Given the description of an element on the screen output the (x, y) to click on. 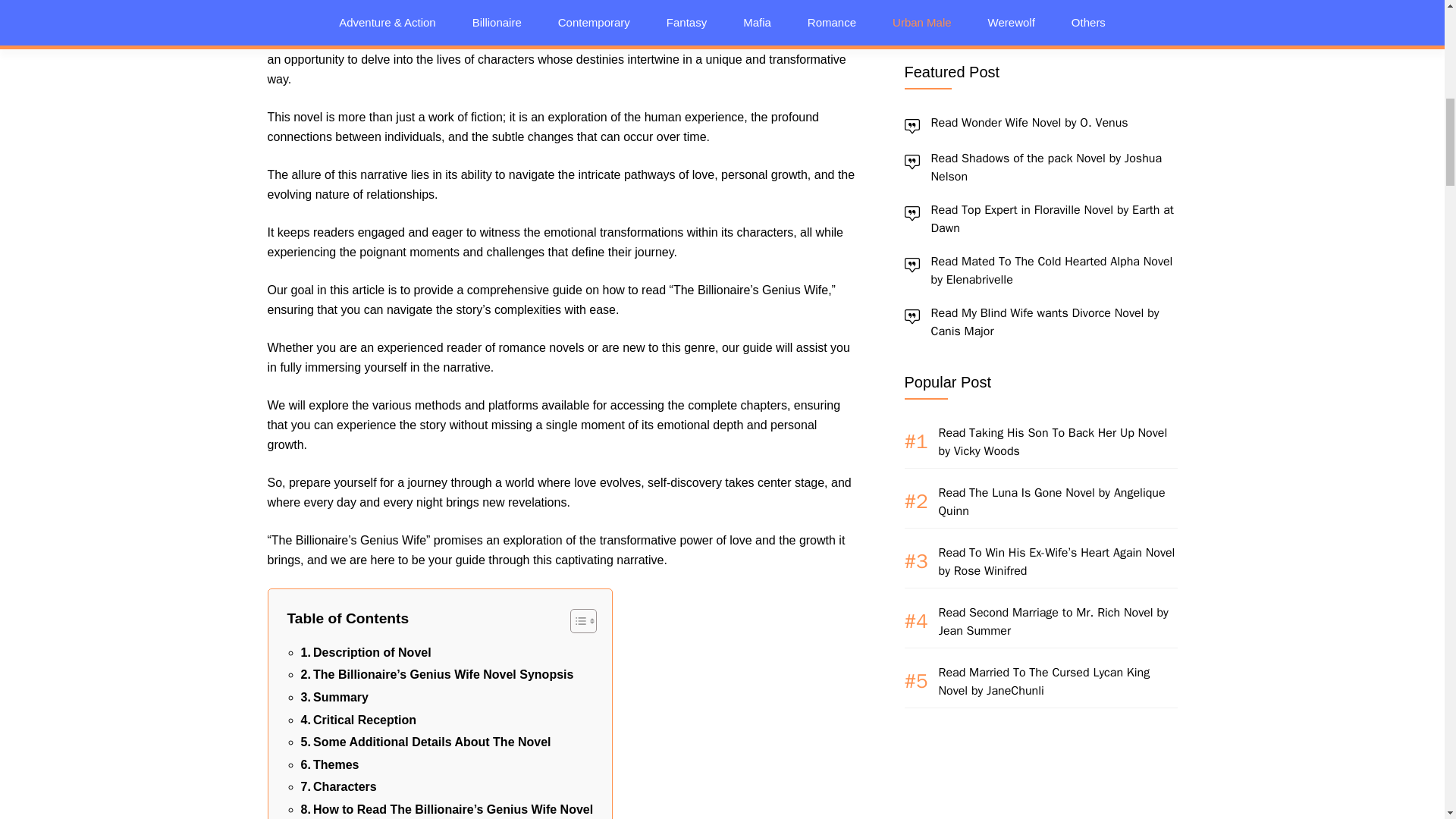
Description of Novel (364, 652)
Characters (337, 786)
Description of Novel (364, 652)
Critical Reception (357, 720)
Some Additional Details About The Novel (424, 742)
Critical Reception (357, 720)
Summary (333, 697)
Summary (333, 697)
Characters (337, 786)
Themes (328, 764)
Themes (328, 764)
Some Additional Details About The Novel (424, 742)
